Given the description of an element on the screen output the (x, y) to click on. 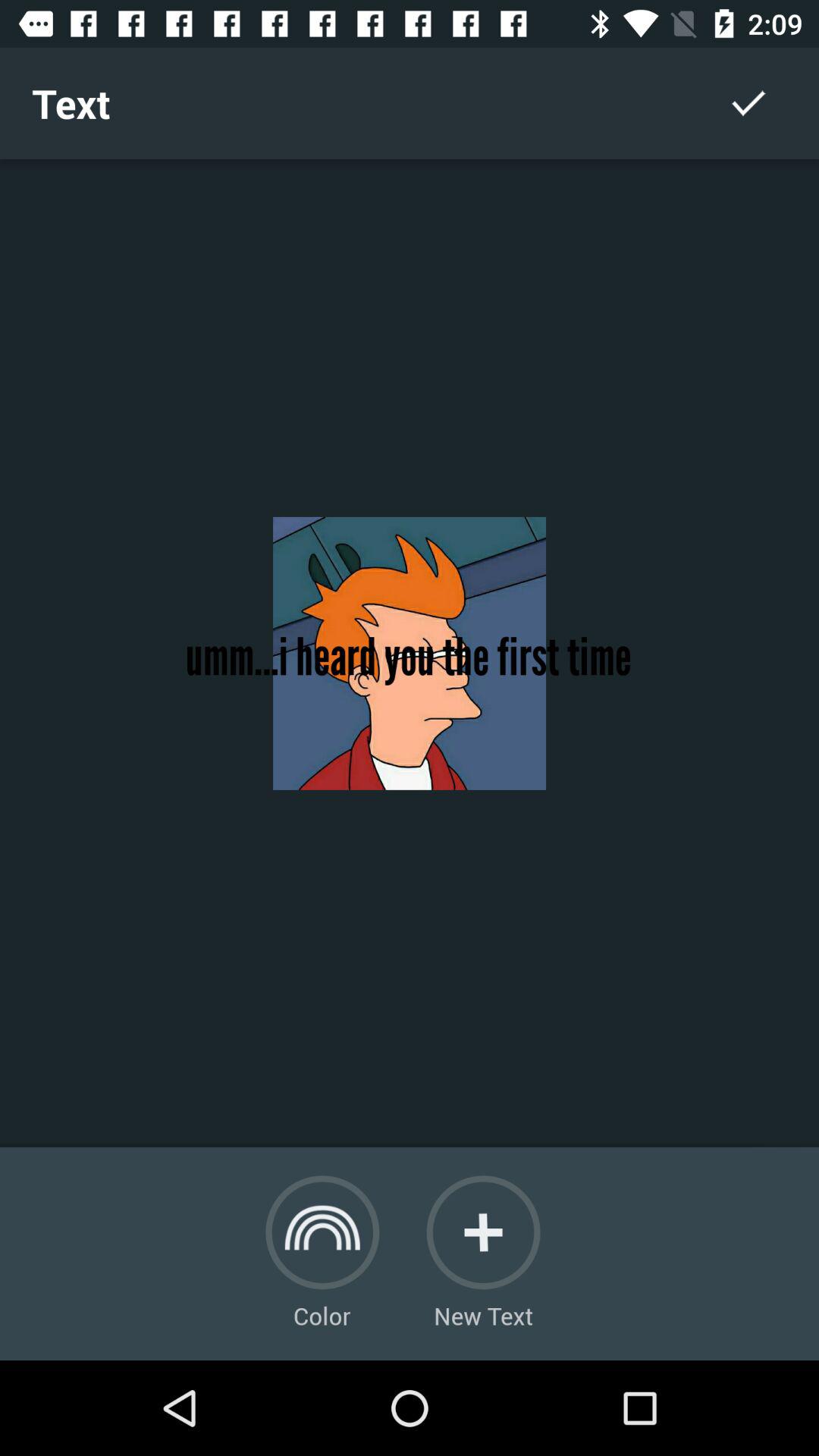
color change option (322, 1232)
